Given the description of an element on the screen output the (x, y) to click on. 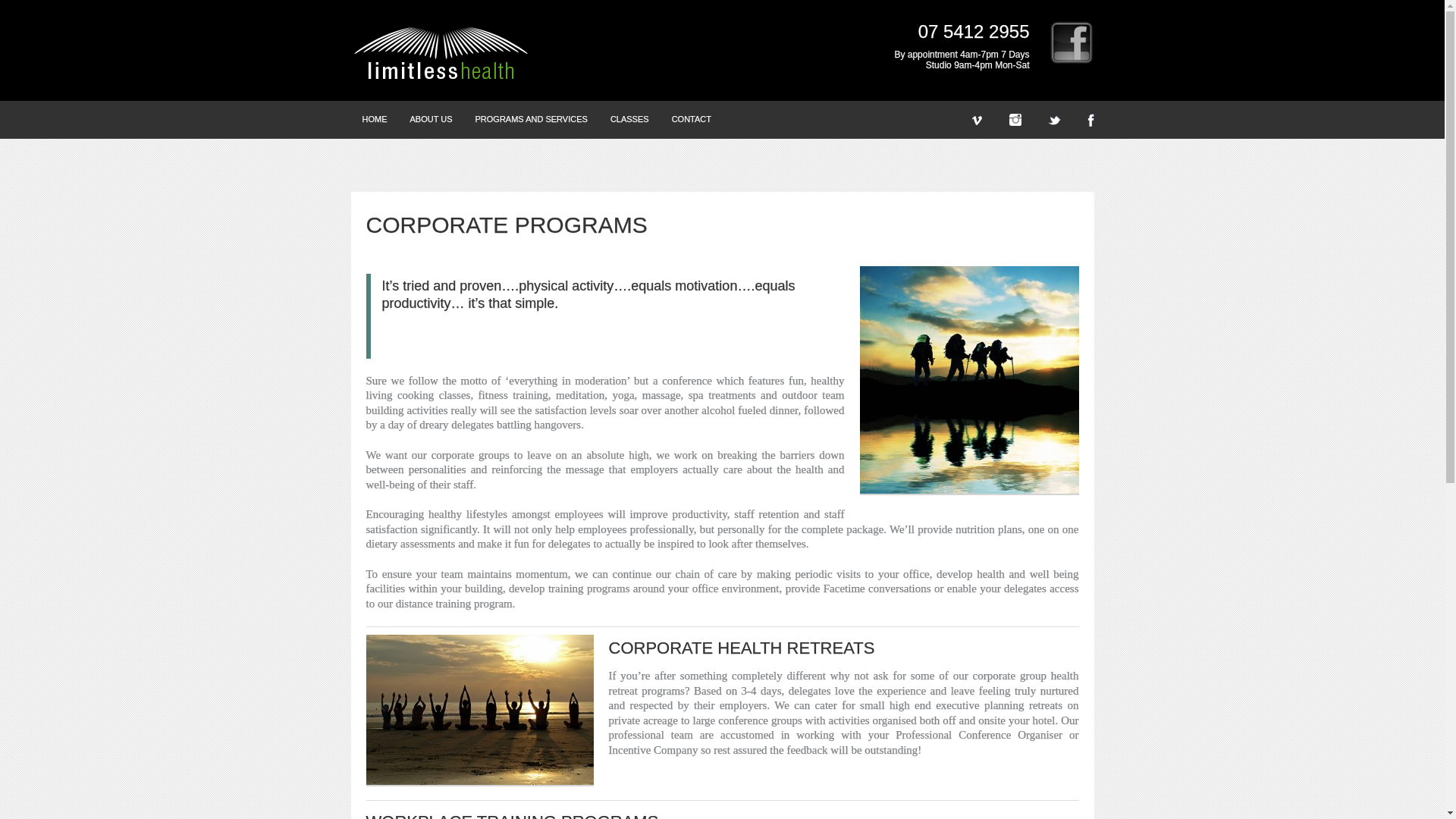
CONTACT (691, 119)
PROGRAMS AND SERVICES (531, 119)
HOME (373, 119)
CLASSES (629, 119)
ABOUT US (431, 119)
corporate2 (478, 709)
Corporate (969, 379)
